Given the description of an element on the screen output the (x, y) to click on. 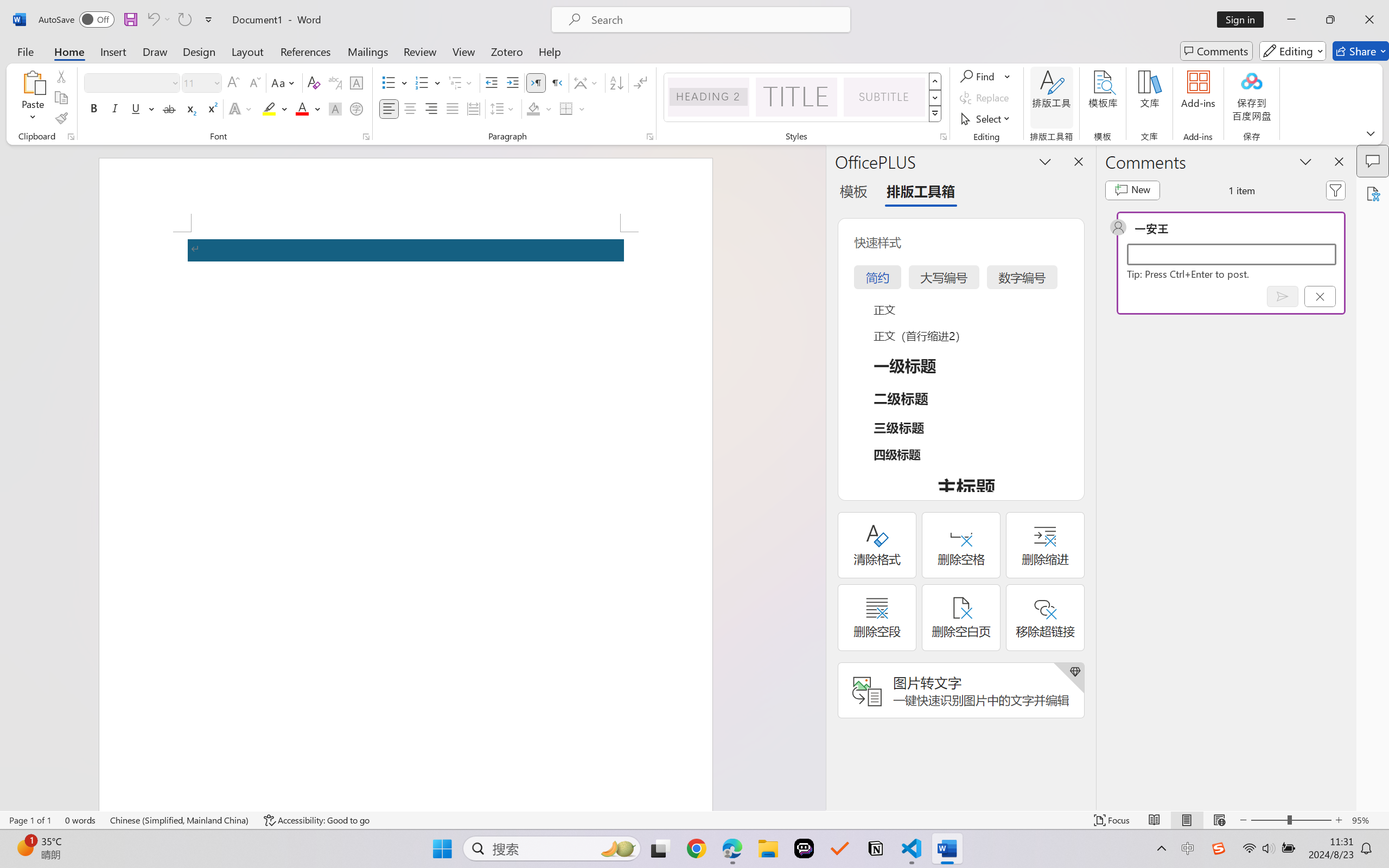
Right-to-Left (556, 82)
